Given the description of an element on the screen output the (x, y) to click on. 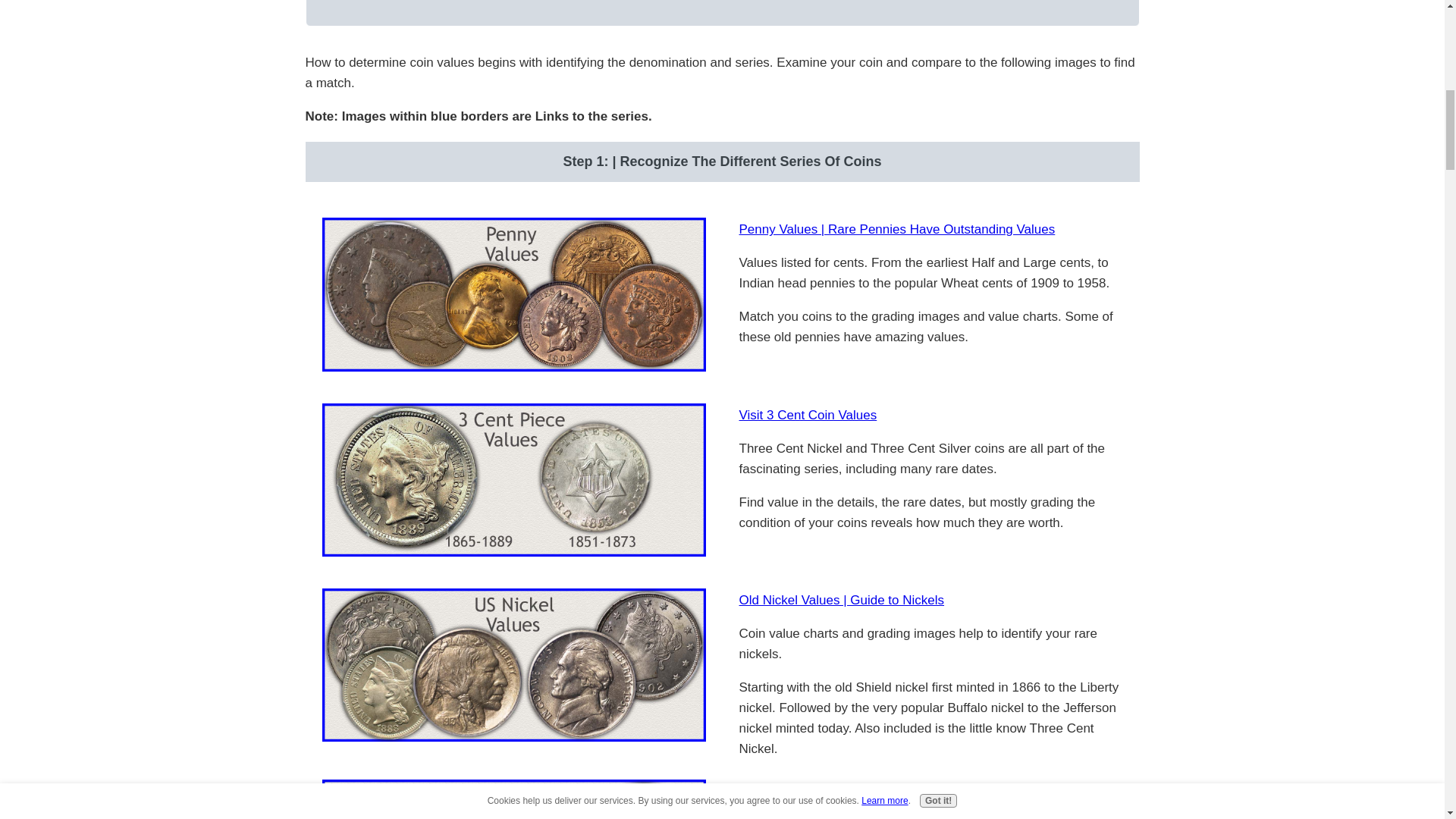
Visit...  Bust Half Dimes and Seated Liberty Half Dimes (512, 799)
Visit....  3 Cent Coins (512, 479)
